Given the description of an element on the screen output the (x, y) to click on. 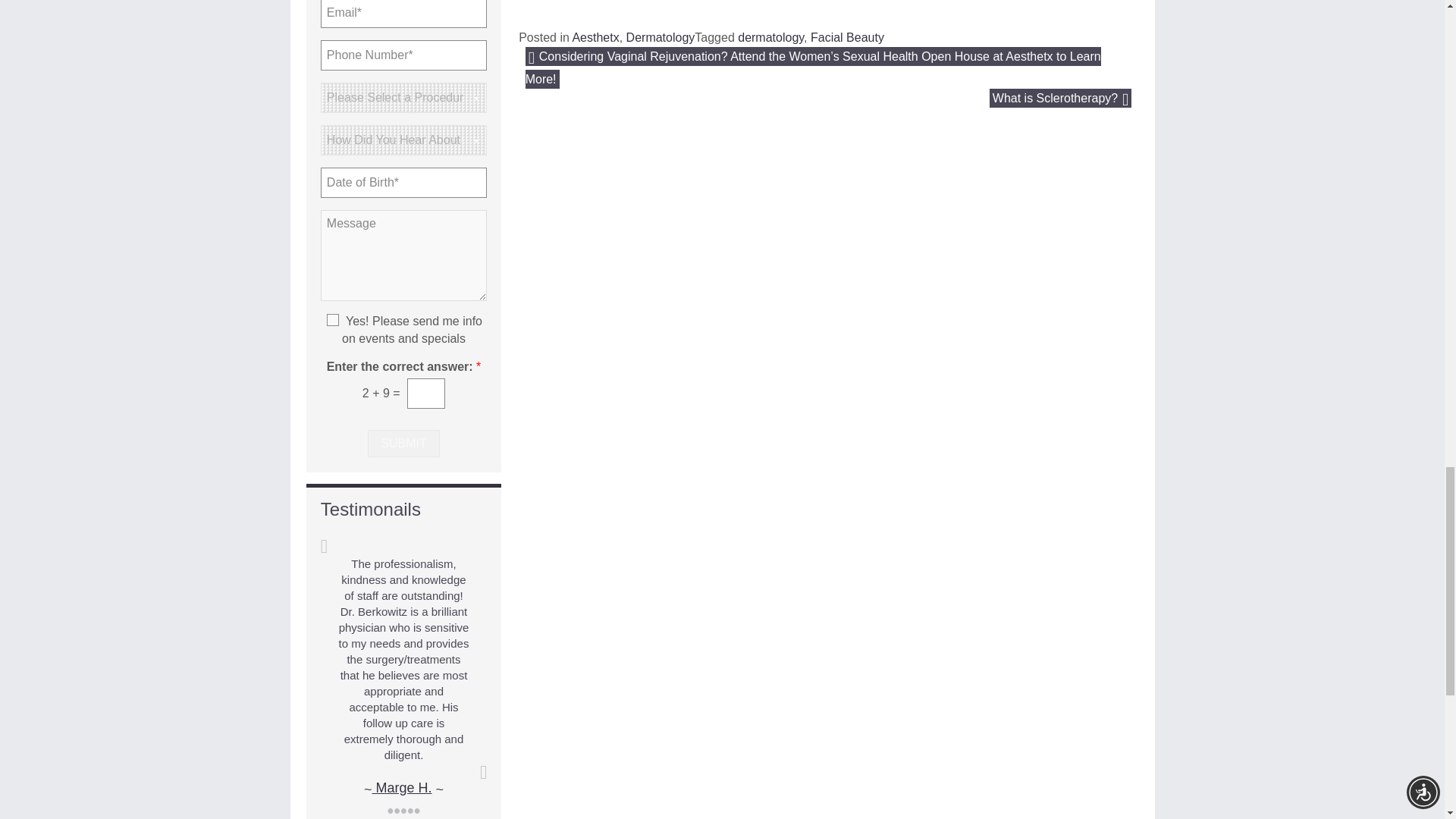
Yes! Please send me info on events and specials (332, 319)
